Given the description of an element on the screen output the (x, y) to click on. 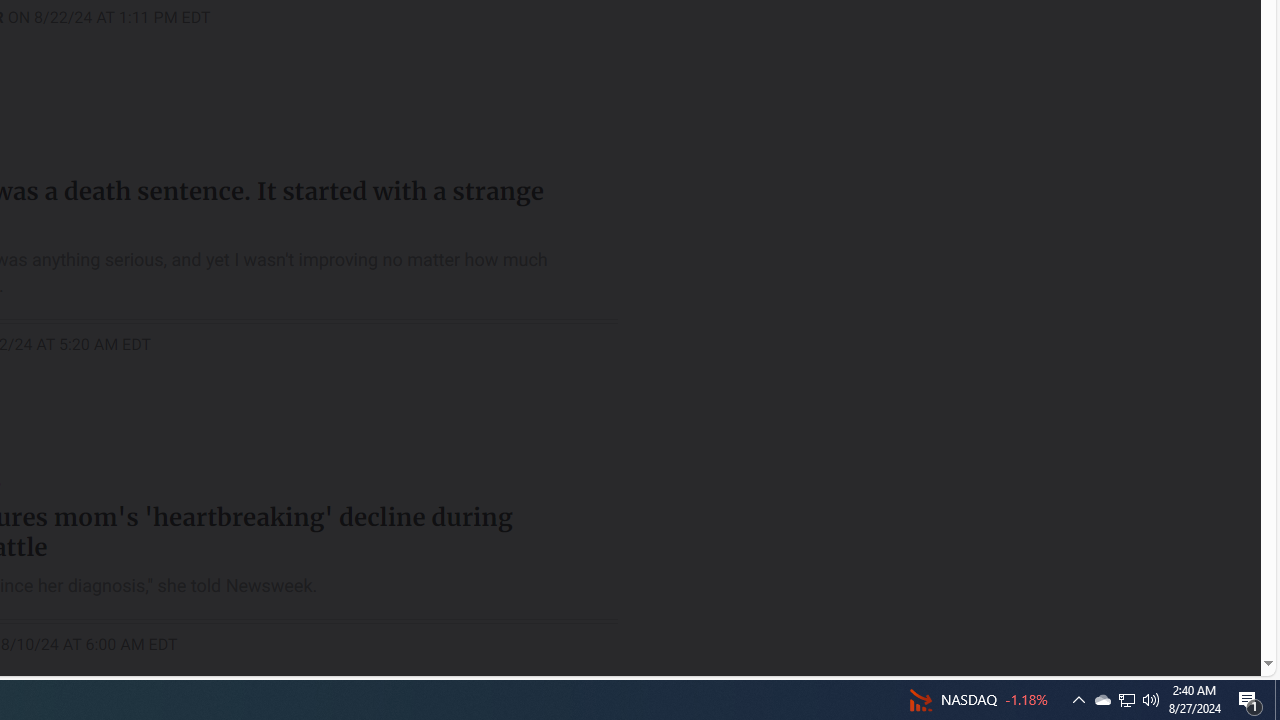
Action Center, 1 new notification (1102, 699)
NASDAQ-1.18% (1250, 699)
